Given the description of an element on the screen output the (x, y) to click on. 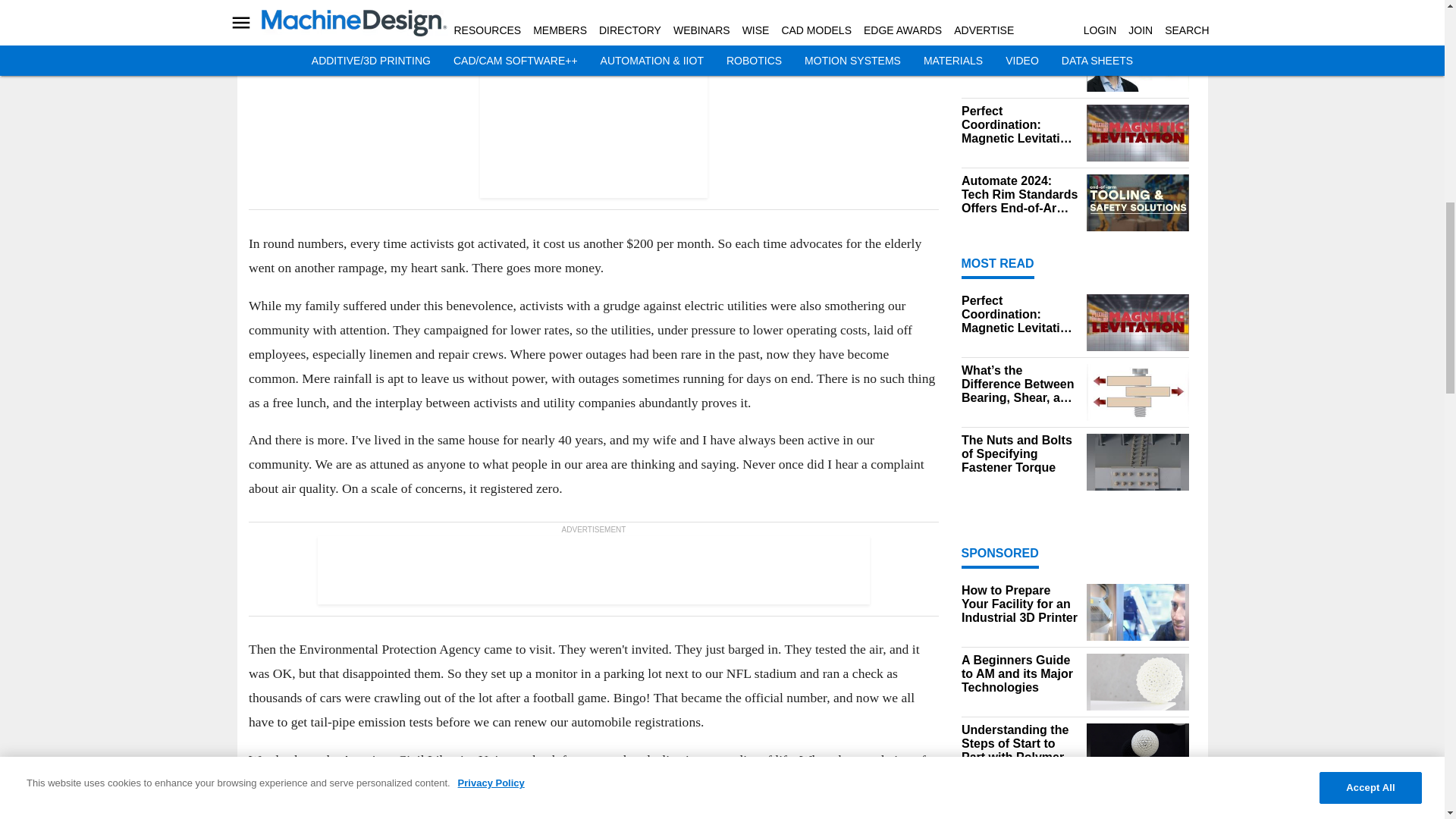
3rd party ad content (593, 570)
3rd party ad content (592, 104)
